Given the description of an element on the screen output the (x, y) to click on. 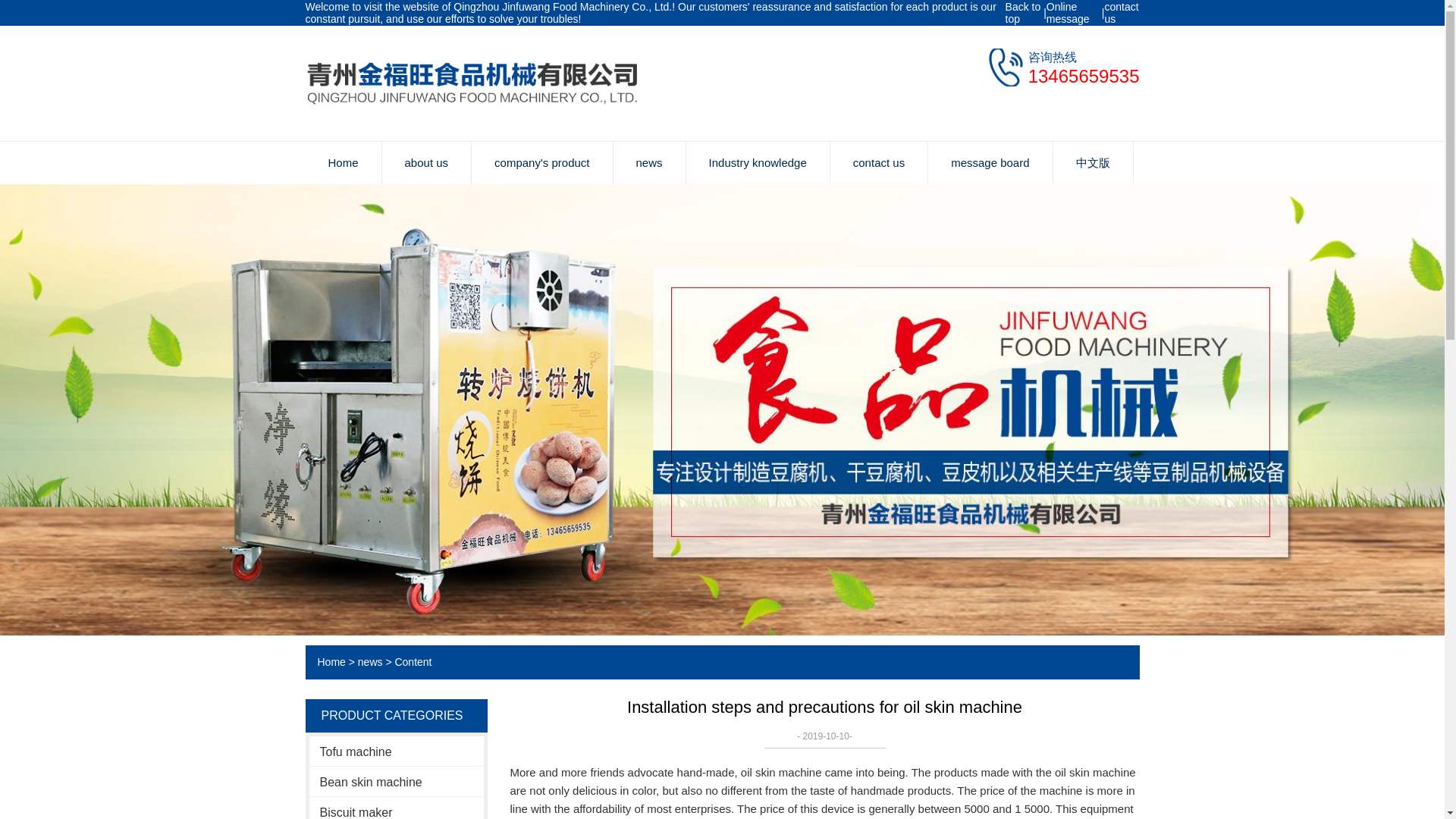
Industry knowledge (757, 162)
contact us (1120, 12)
Online message (1074, 12)
news (370, 662)
Biscuit maker (395, 807)
Home (342, 162)
company's product (541, 162)
Bean skin machine (395, 781)
contact us (878, 162)
Home (331, 662)
Back to top (1024, 12)
news (648, 162)
Tofu machine (395, 750)
message board (989, 162)
about us (426, 162)
